Given the description of an element on the screen output the (x, y) to click on. 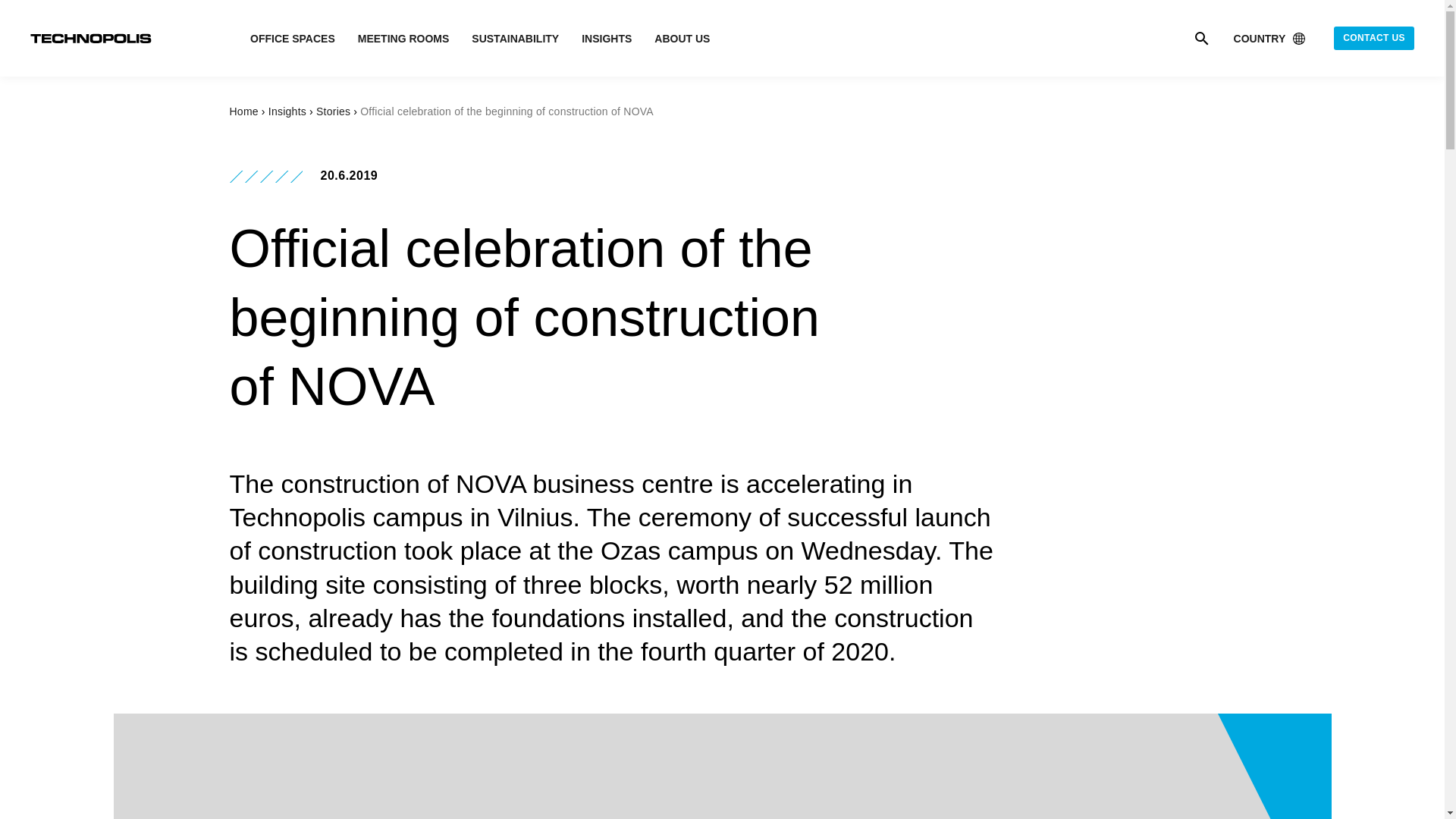
Home (242, 111)
INSIGHTS (605, 38)
MEETING ROOMS (403, 38)
Stories (332, 111)
CONTACT US (1373, 38)
Insights (286, 111)
OFFICE SPACES (292, 38)
SUSTAINABILITY (515, 38)
Search (1201, 37)
ABOUT US (681, 38)
